Given the description of an element on the screen output the (x, y) to click on. 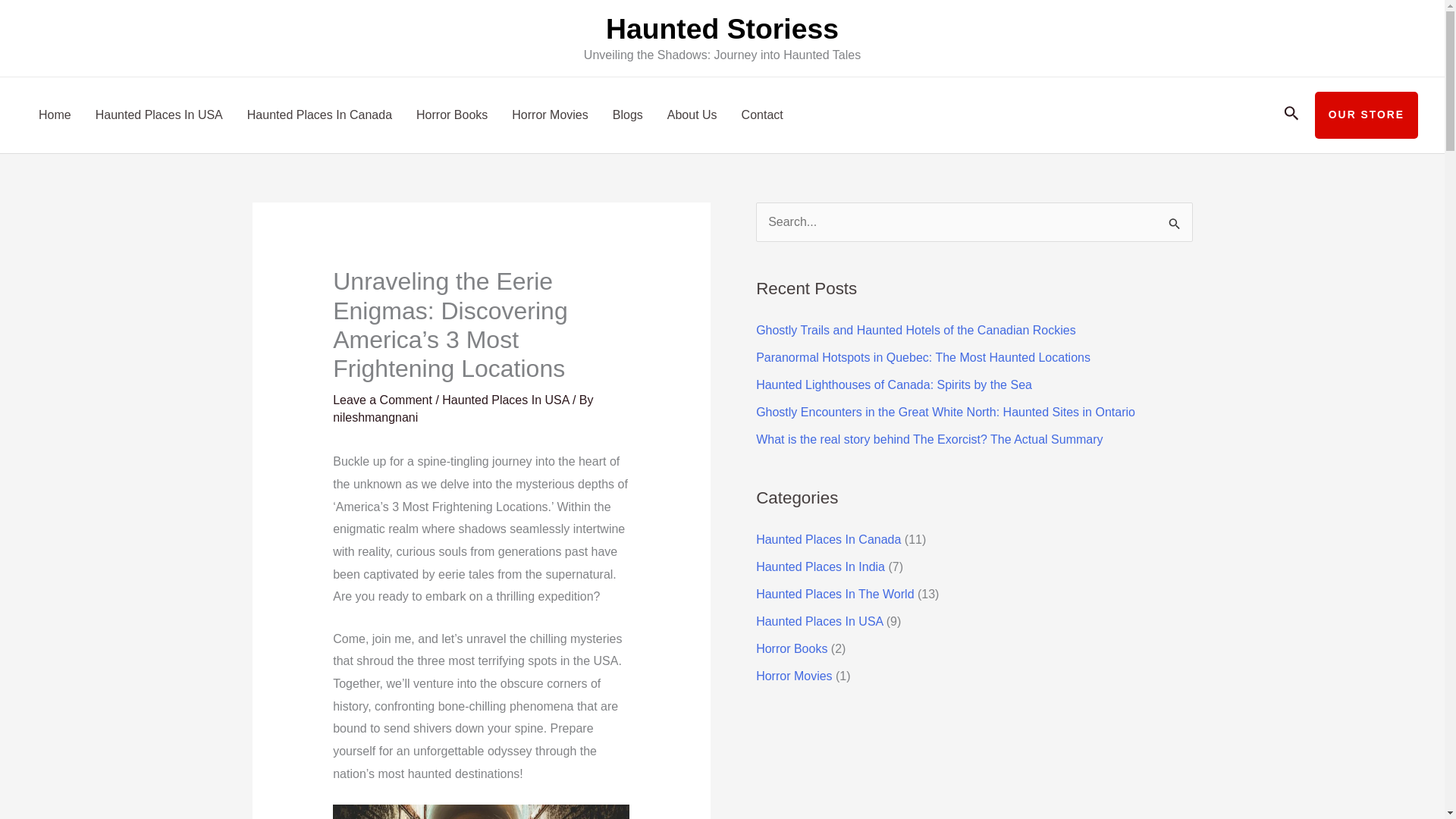
View all posts by nileshmangnani (375, 417)
Haunted Storiess (721, 29)
Haunted Places In Canada (828, 539)
About Us (692, 114)
nileshmangnani (375, 417)
Haunted Places In Canada (319, 114)
Ghostly Trails and Haunted Hotels of the Canadian Rockies (915, 329)
Haunted Places In USA (505, 399)
Haunted Places In USA (158, 114)
Haunted Places In USA (818, 621)
Paranormal Hotspots in Quebec: The Most Haunted Locations (922, 357)
Haunted Places In India (820, 566)
Haunted Places In The World (834, 594)
Horror Books (451, 114)
